Given the description of an element on the screen output the (x, y) to click on. 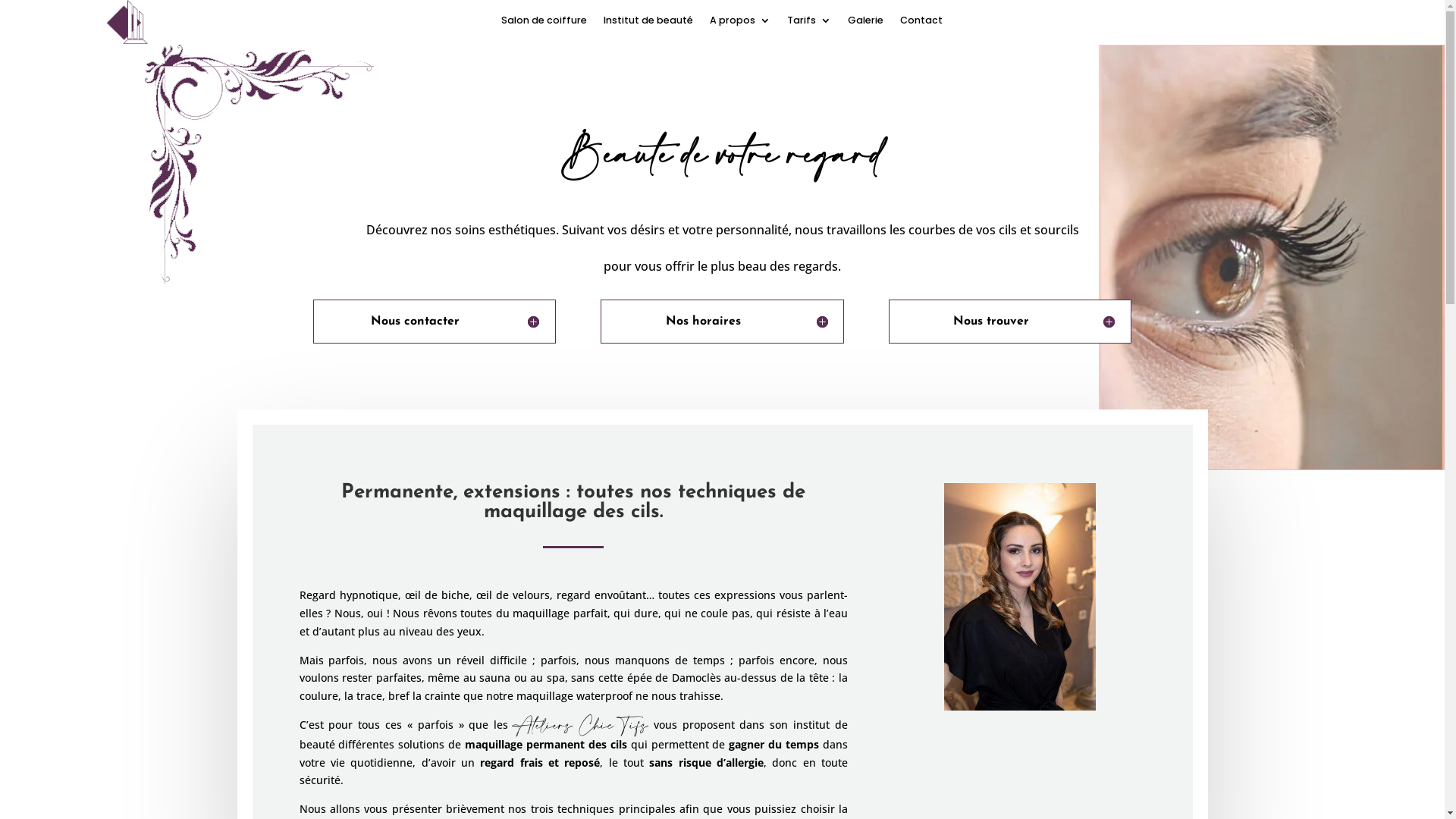
A propos Element type: text (739, 23)
aubergine chictifs logo sans texte Element type: hover (126, 22)
Contact Element type: text (921, 23)
Tarifs Element type: text (809, 23)
Galerie Element type: text (865, 23)
Salon de coiffure Element type: text (543, 23)
